Given the description of an element on the screen output the (x, y) to click on. 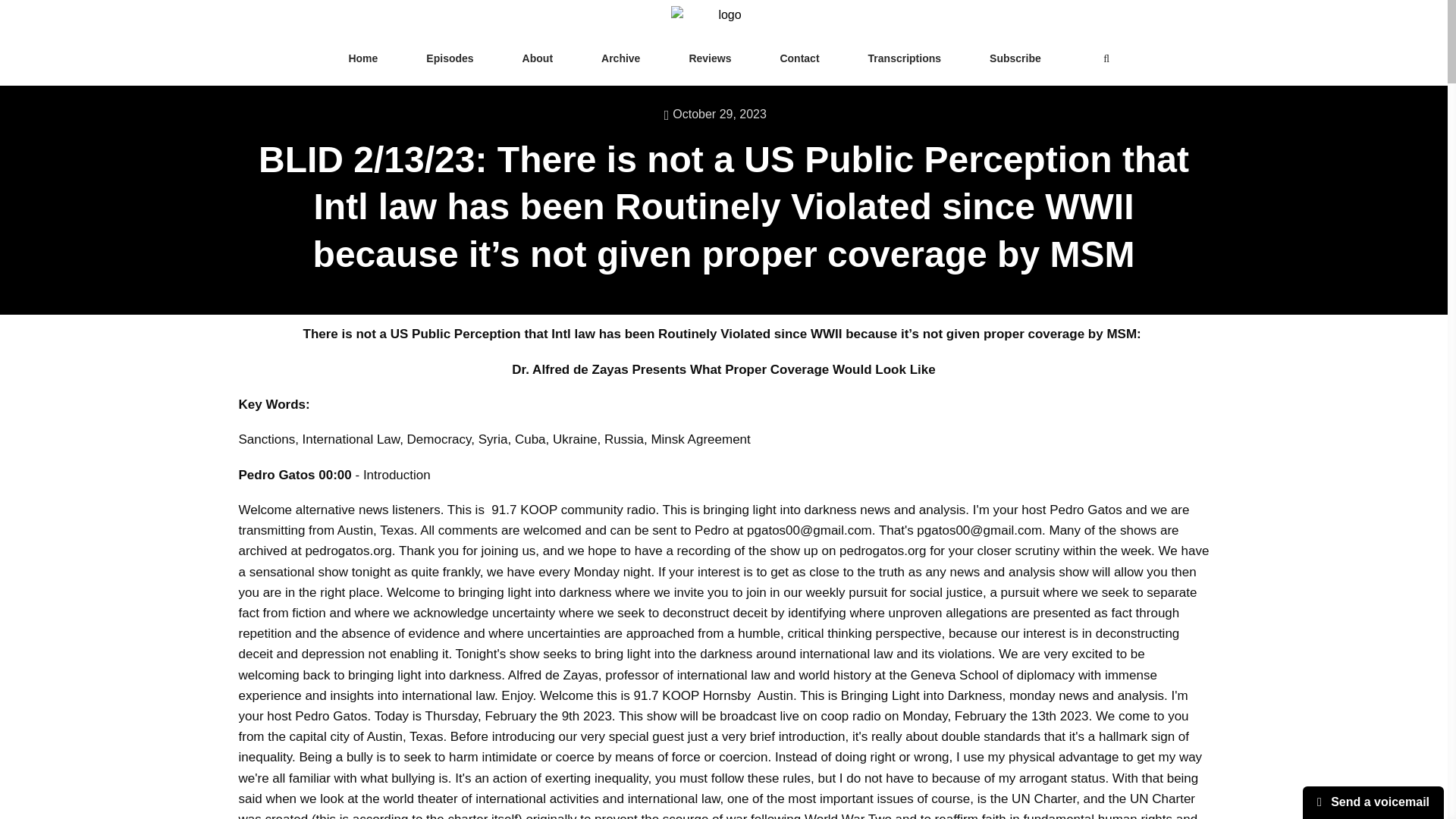
Contact (799, 59)
Transcriptions (904, 59)
Home (362, 59)
About (536, 59)
Send a voicemail (1373, 802)
Subscribe (1015, 59)
Reviews (709, 59)
Archive (619, 59)
Episodes (449, 59)
